Given the description of an element on the screen output the (x, y) to click on. 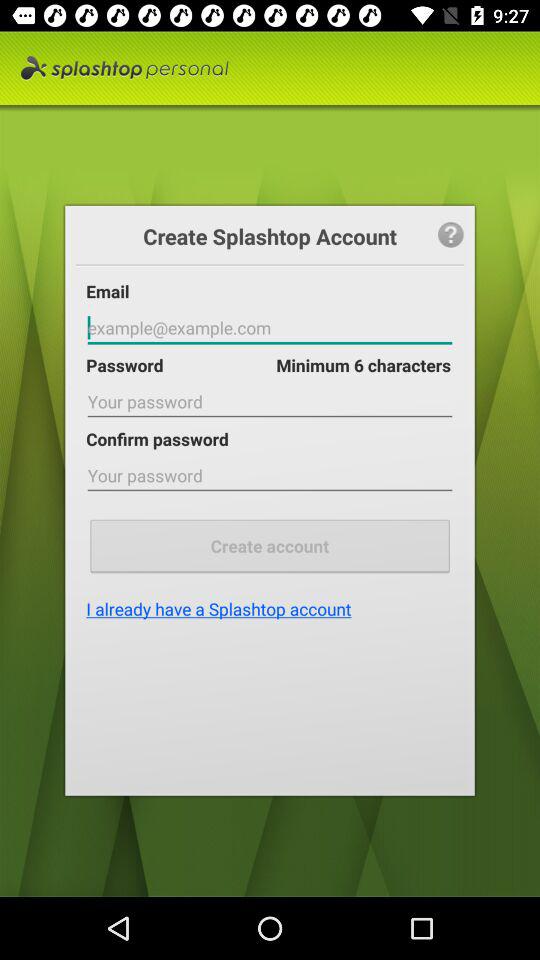
login (269, 328)
